Given the description of an element on the screen output the (x, y) to click on. 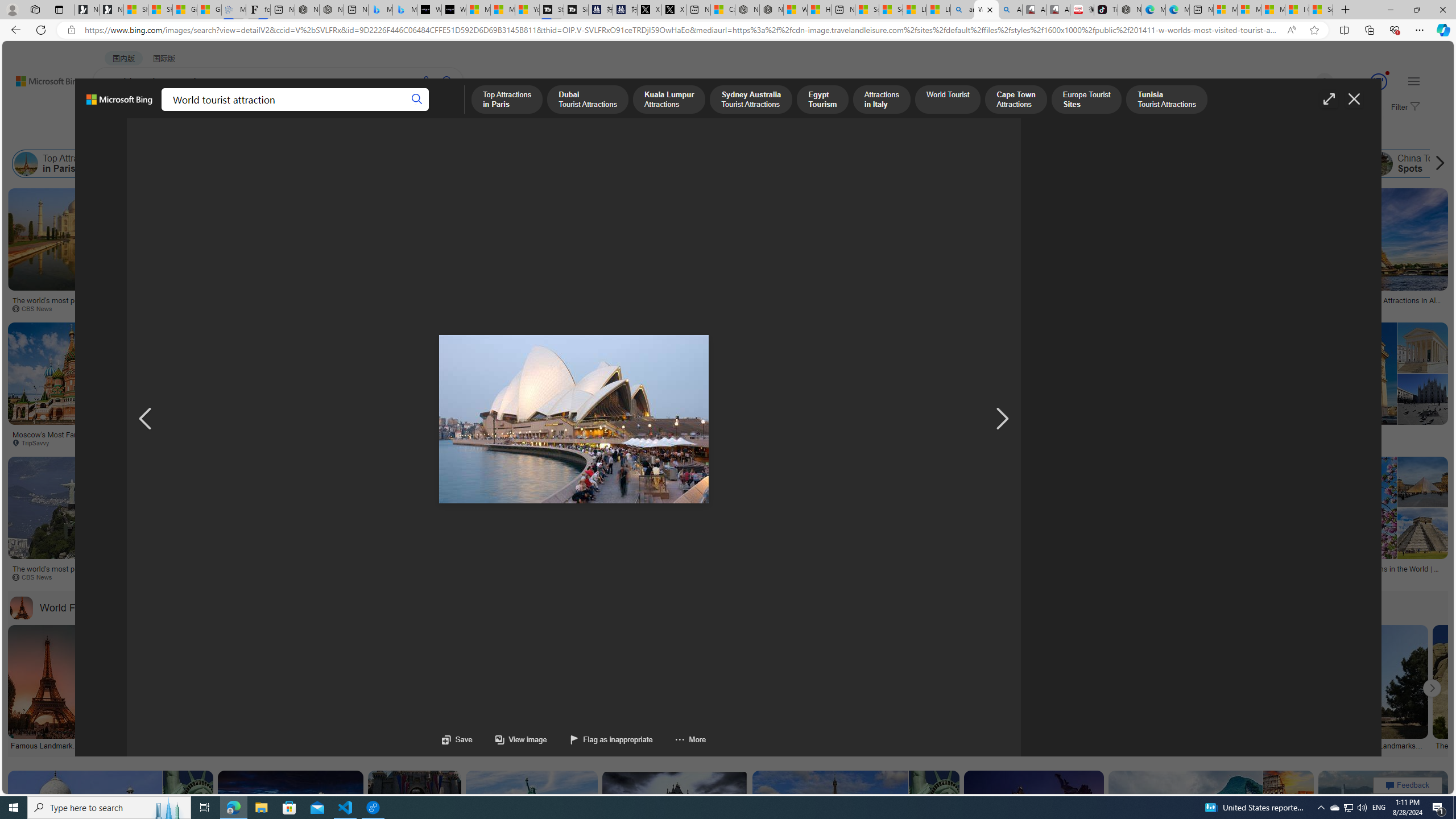
inf-inet.com (1002, 308)
andiamo.co.uk (256, 576)
Microsoft Rewards 138 (1364, 81)
dubaiomg.com (884, 576)
Class: outer-circle-animation (1378, 81)
Top Attractions in Paris (63, 163)
Search using voice (426, 80)
Back to Bing search (41, 78)
Newsletter Sign Up (111, 9)
